Given the description of an element on the screen output the (x, y) to click on. 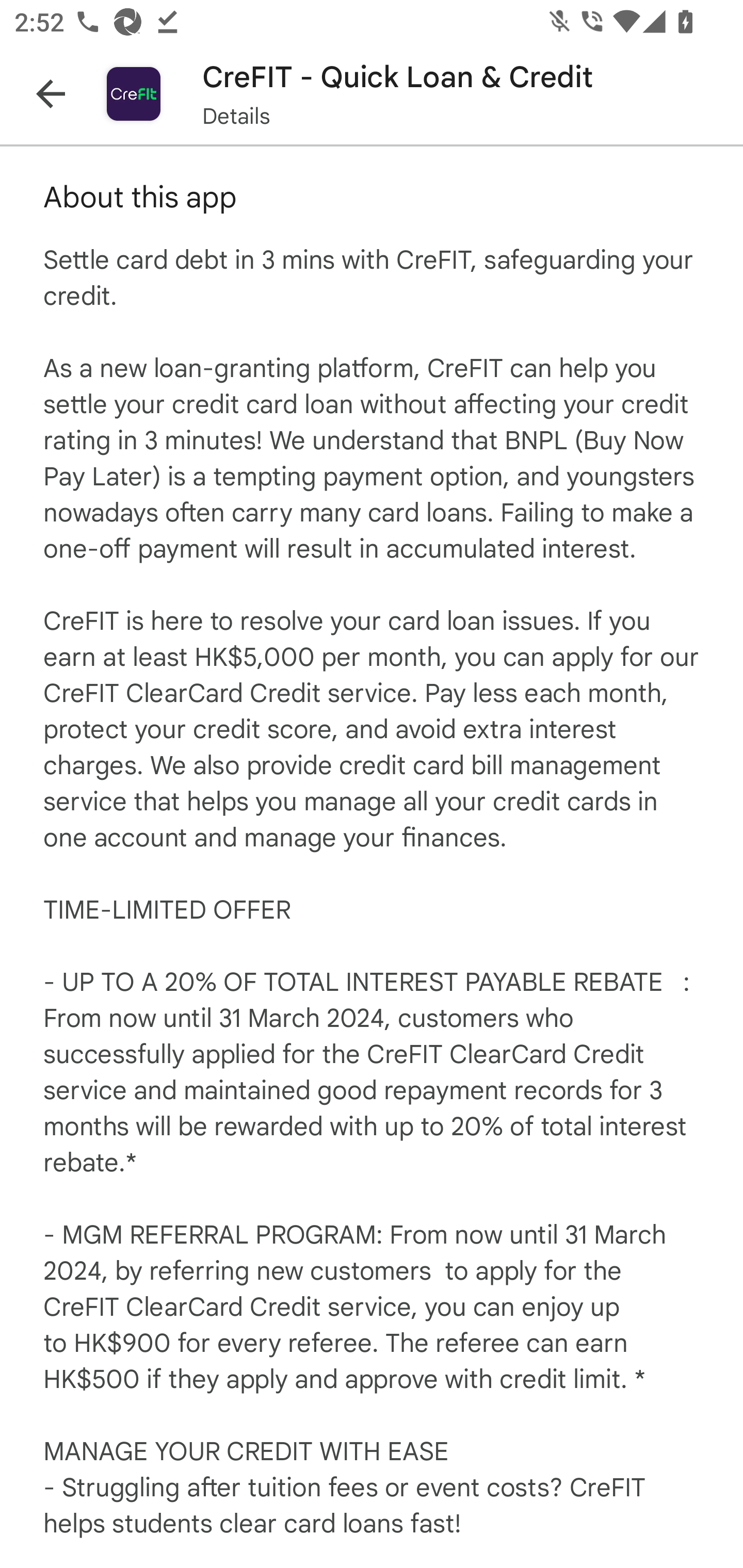
Navigate up (50, 93)
